Given the description of an element on the screen output the (x, y) to click on. 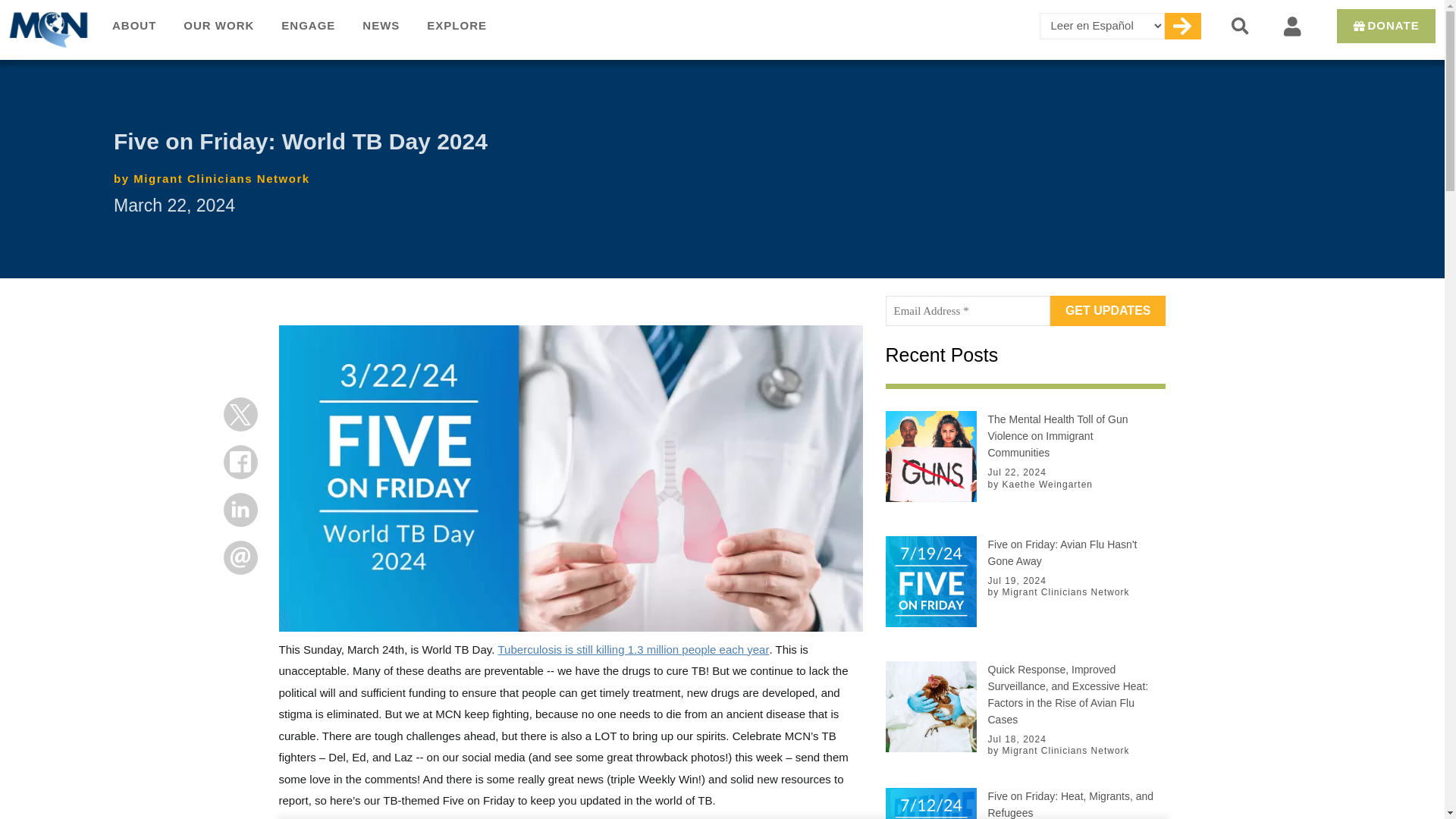
MIGRANT CLINICIANS NETWORK (49, 29)
ACCOUNT (1291, 26)
Get Updates (1107, 310)
SEARCH (1240, 25)
OUR WORK (218, 26)
DONATE (1359, 25)
change language (1181, 25)
ABOUT (134, 26)
